Given the description of an element on the screen output the (x, y) to click on. 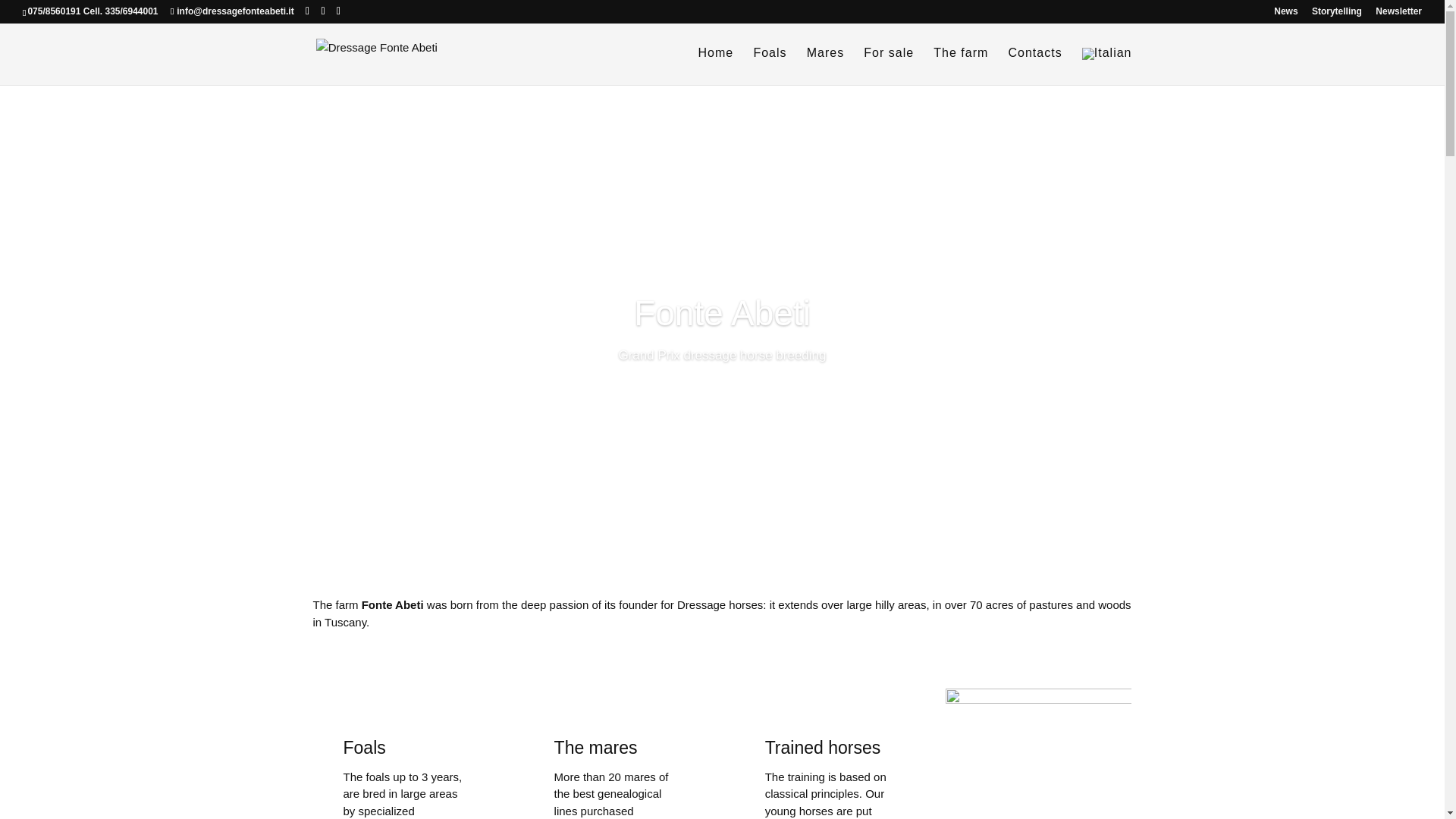
For sale (888, 65)
News (1285, 14)
The farm (960, 65)
Newsletter (1398, 14)
Mares (825, 65)
Foals (769, 65)
Home (715, 65)
Contacts (1034, 65)
Storytelling (1336, 14)
